Given the description of an element on the screen output the (x, y) to click on. 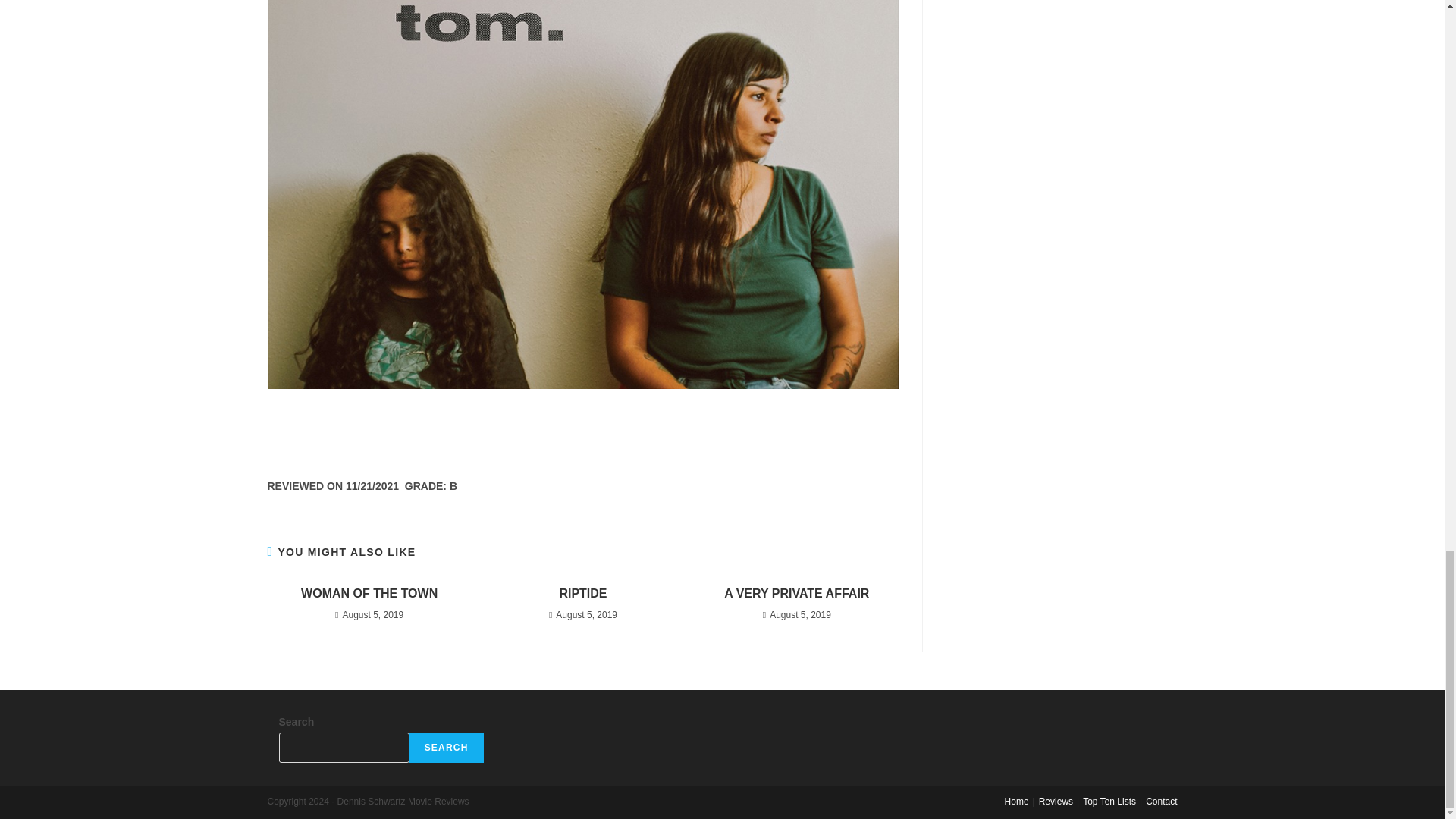
Reviews (1056, 801)
SEARCH (446, 747)
RIPTIDE (582, 593)
A VERY PRIVATE AFFAIR (796, 593)
Home (1016, 801)
Contact (1160, 801)
WOMAN OF THE TOWN (368, 593)
Top Ten Lists (1109, 801)
